Given the description of an element on the screen output the (x, y) to click on. 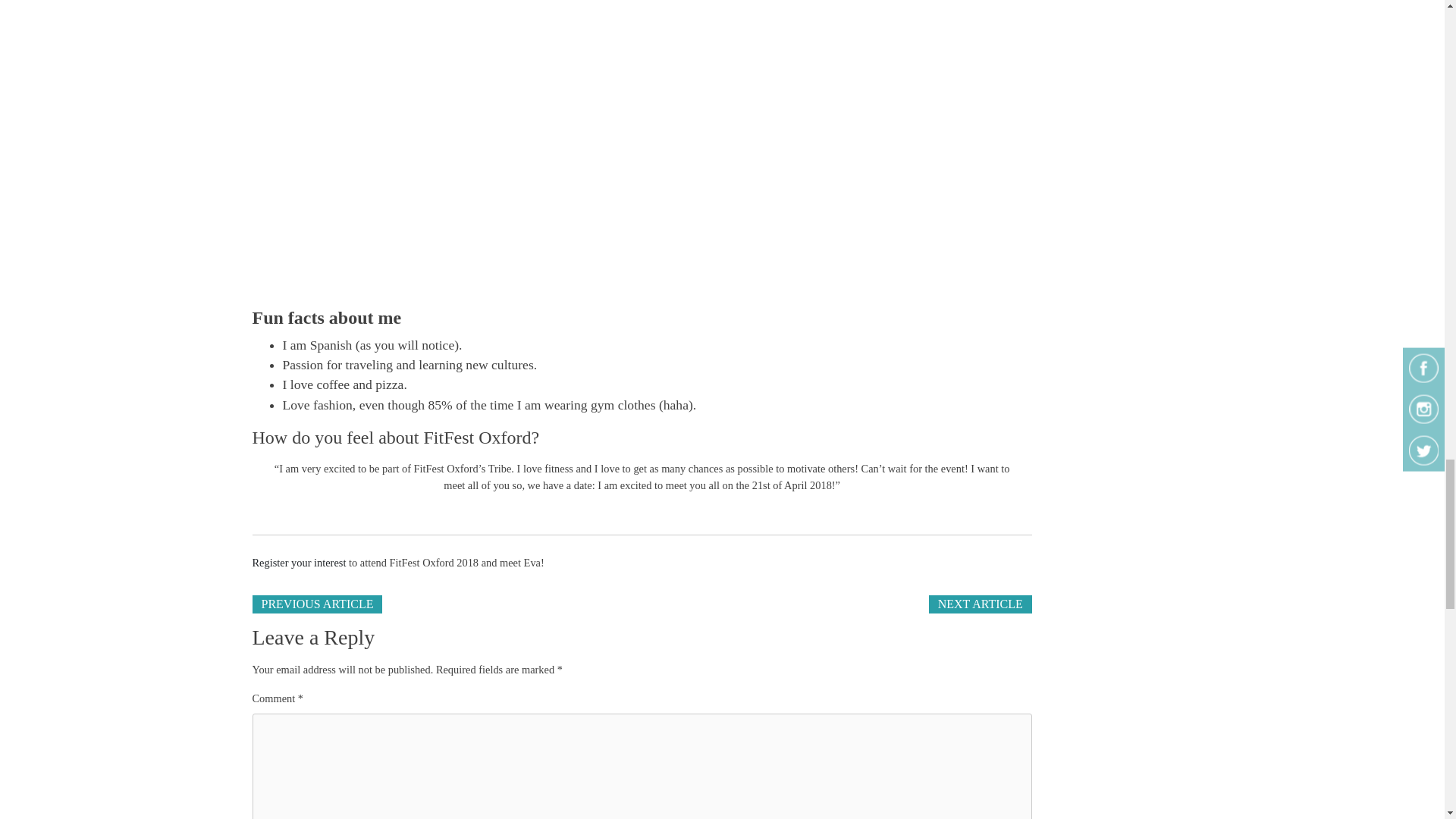
Register your interest (298, 562)
NEXT ARTICLE (980, 603)
PREVIOUS ARTICLE (316, 603)
